Given the description of an element on the screen output the (x, y) to click on. 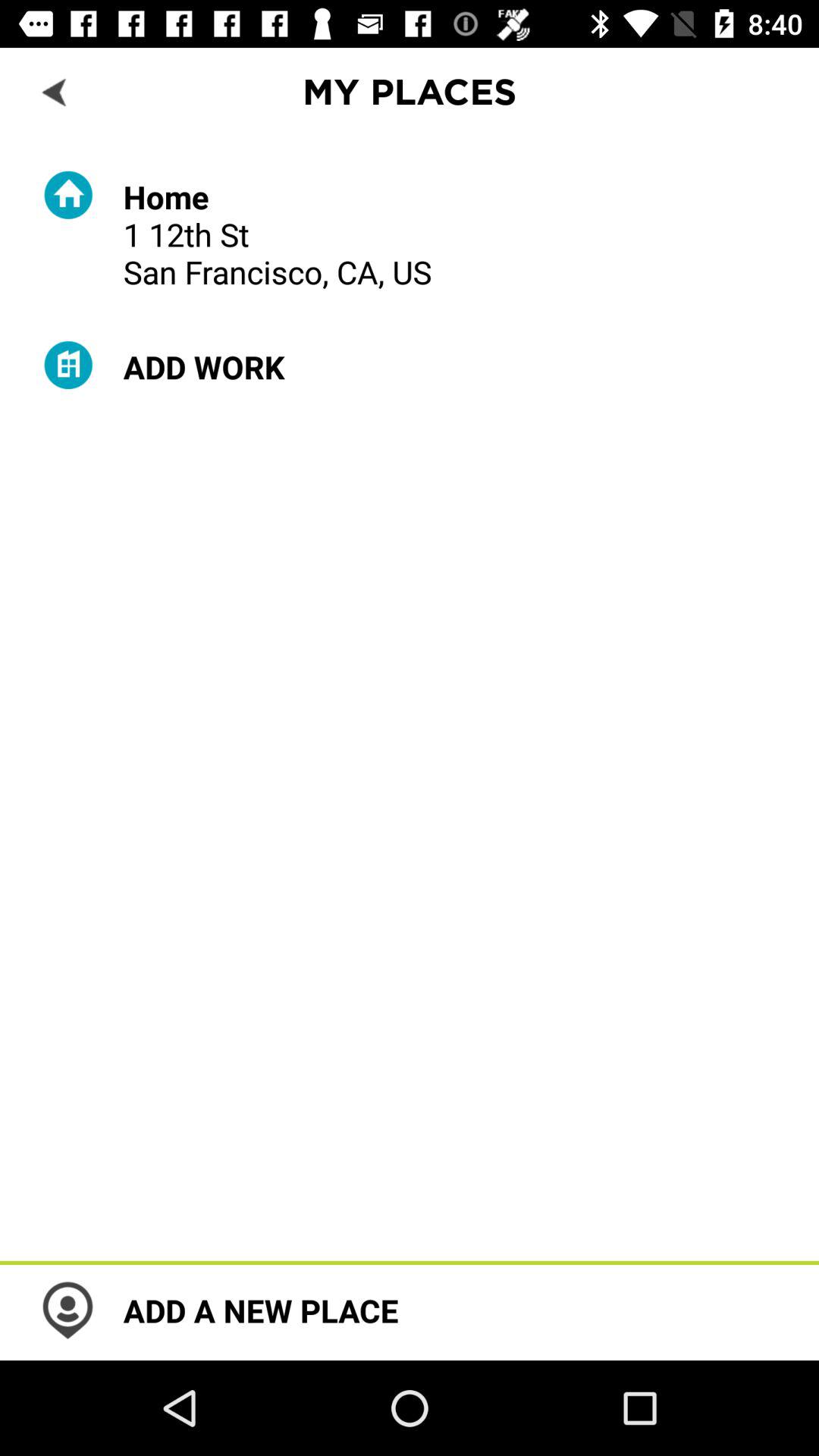
jump to home 1 12th item (277, 234)
